Given the description of an element on the screen output the (x, y) to click on. 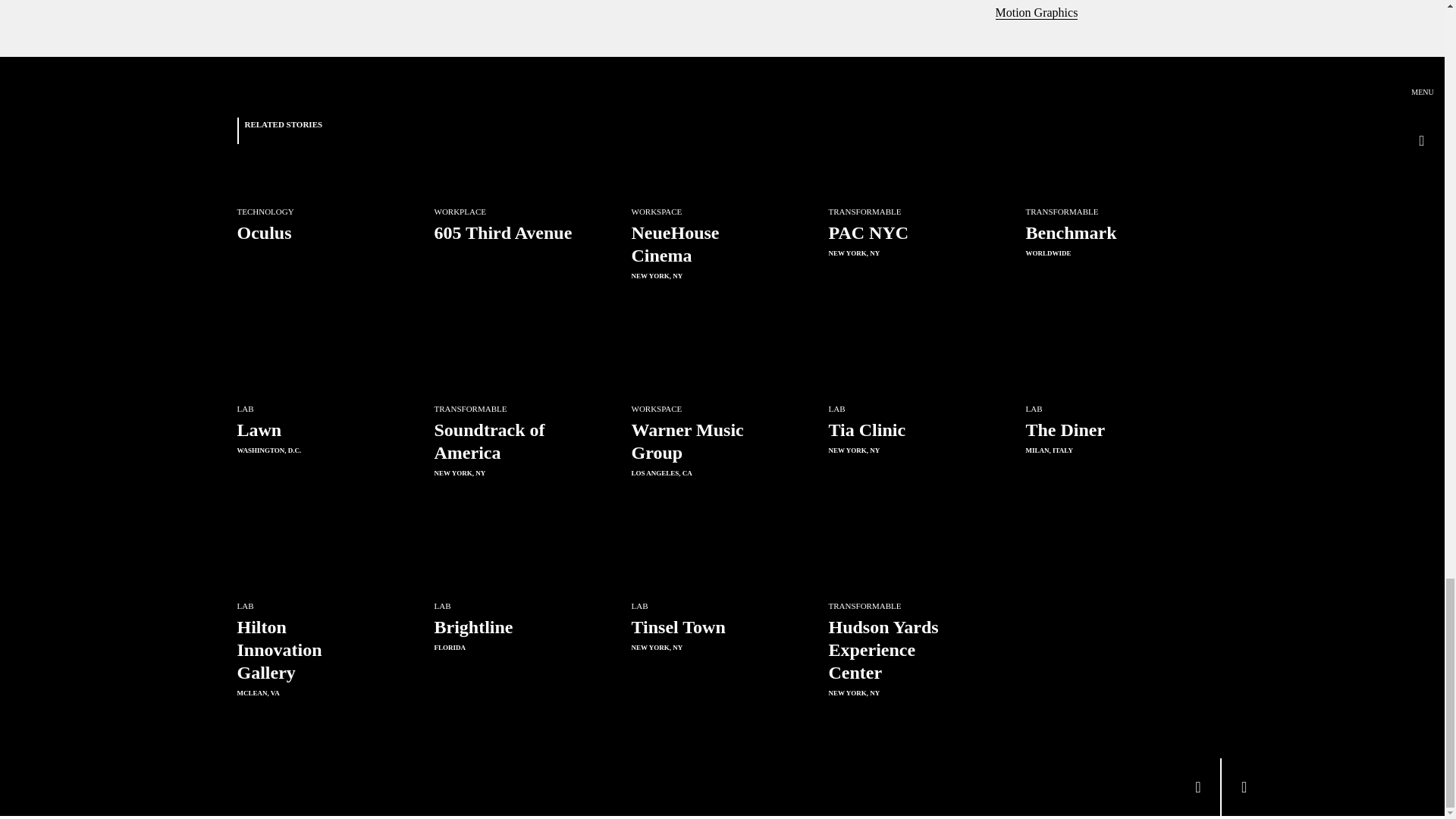
Motion Graphics (1035, 12)
